Given the description of an element on the screen output the (x, y) to click on. 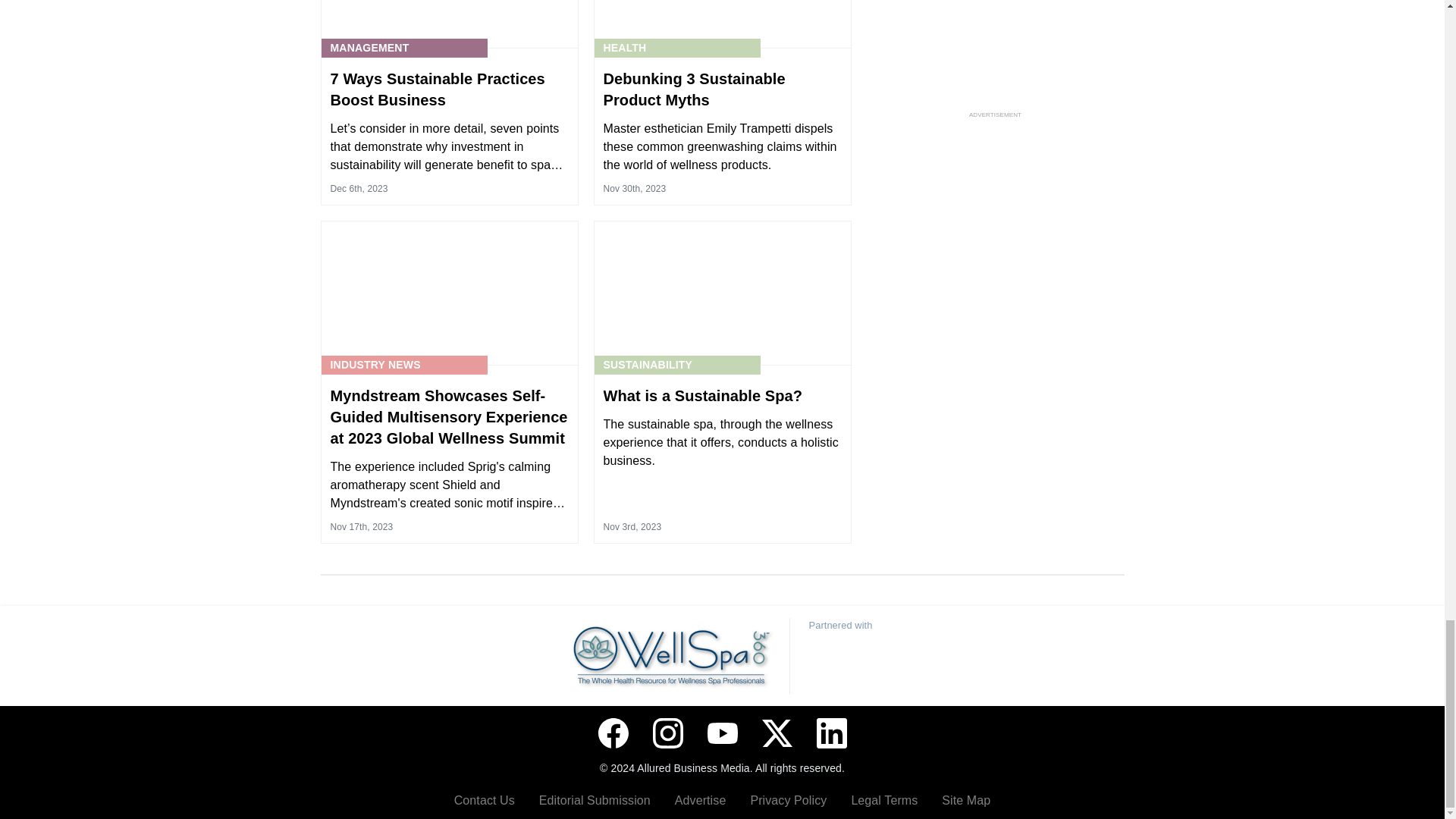
YouTube icon (721, 733)
LinkedIn icon (830, 733)
Facebook icon (611, 733)
Twitter X icon (776, 733)
Instagram icon (667, 733)
